Given the description of an element on the screen output the (x, y) to click on. 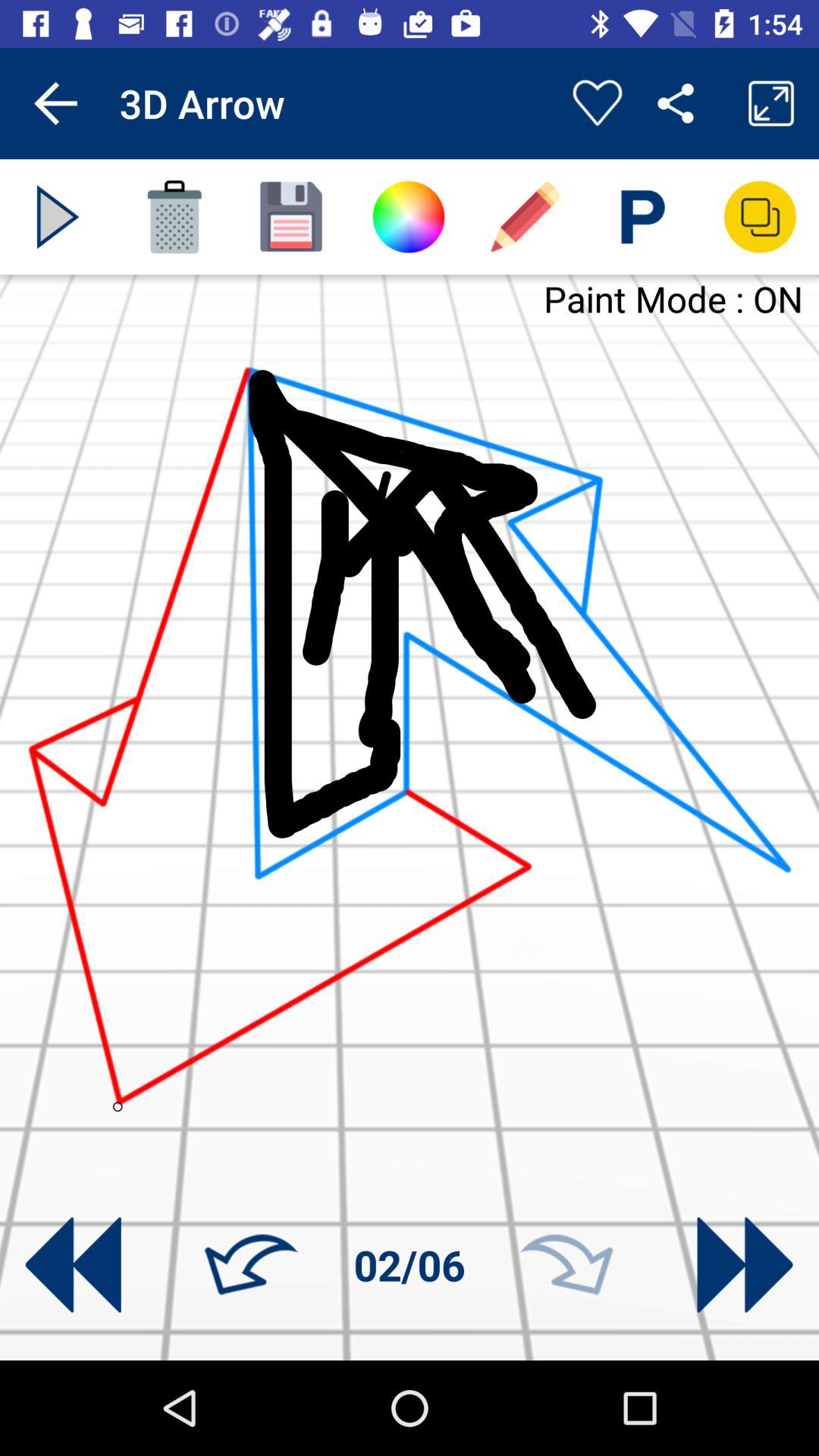
discard drawing (174, 216)
